Given the description of an element on the screen output the (x, y) to click on. 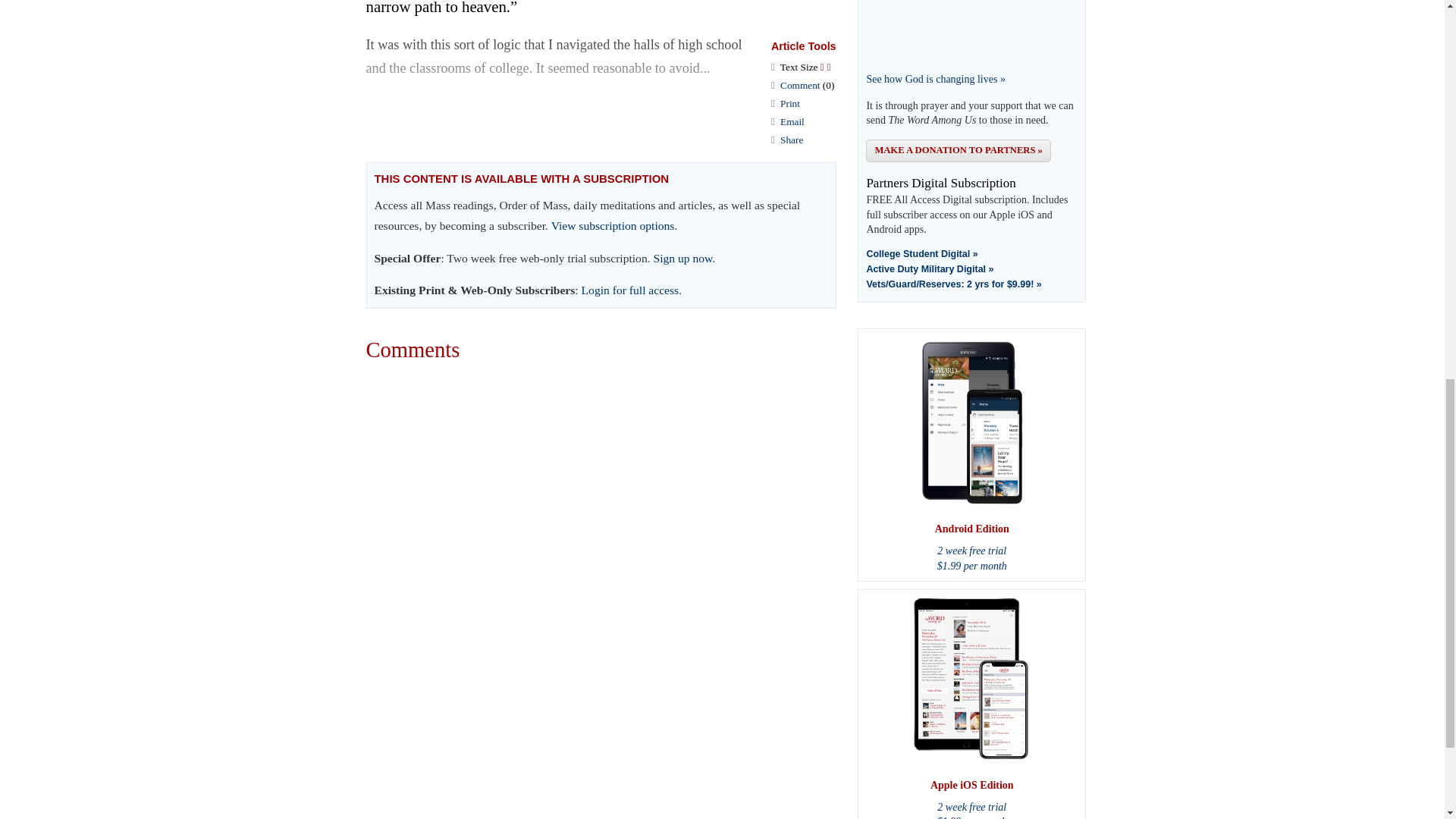
Print-Friendly (789, 102)
Share (791, 139)
Login for full access (629, 289)
Email (792, 121)
Comment (799, 84)
Print (789, 102)
View subscription options (613, 225)
Sign up now (683, 257)
